Given the description of an element on the screen output the (x, y) to click on. 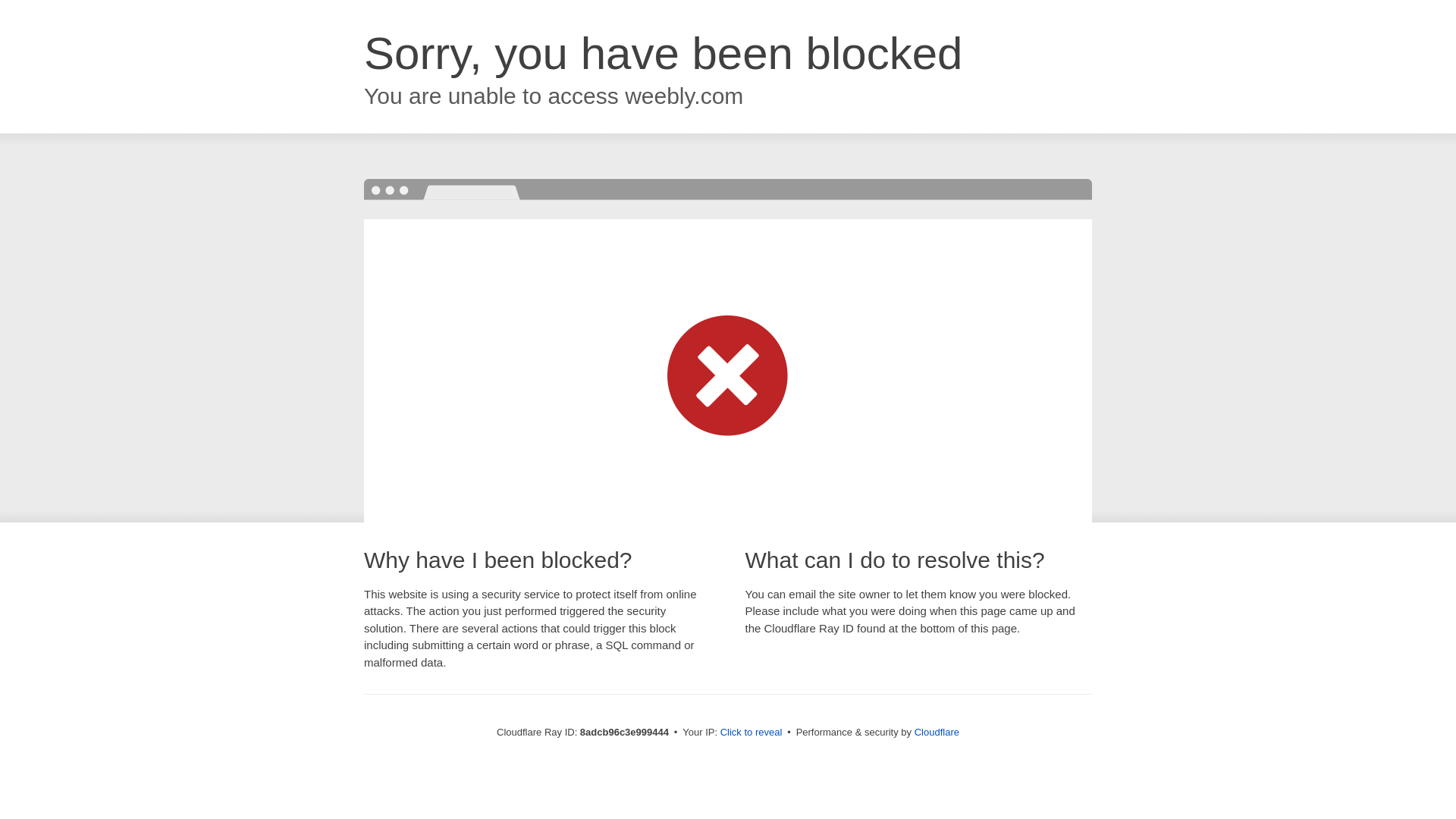
Cloudflare (936, 731)
Click to reveal (751, 732)
